Given the description of an element on the screen output the (x, y) to click on. 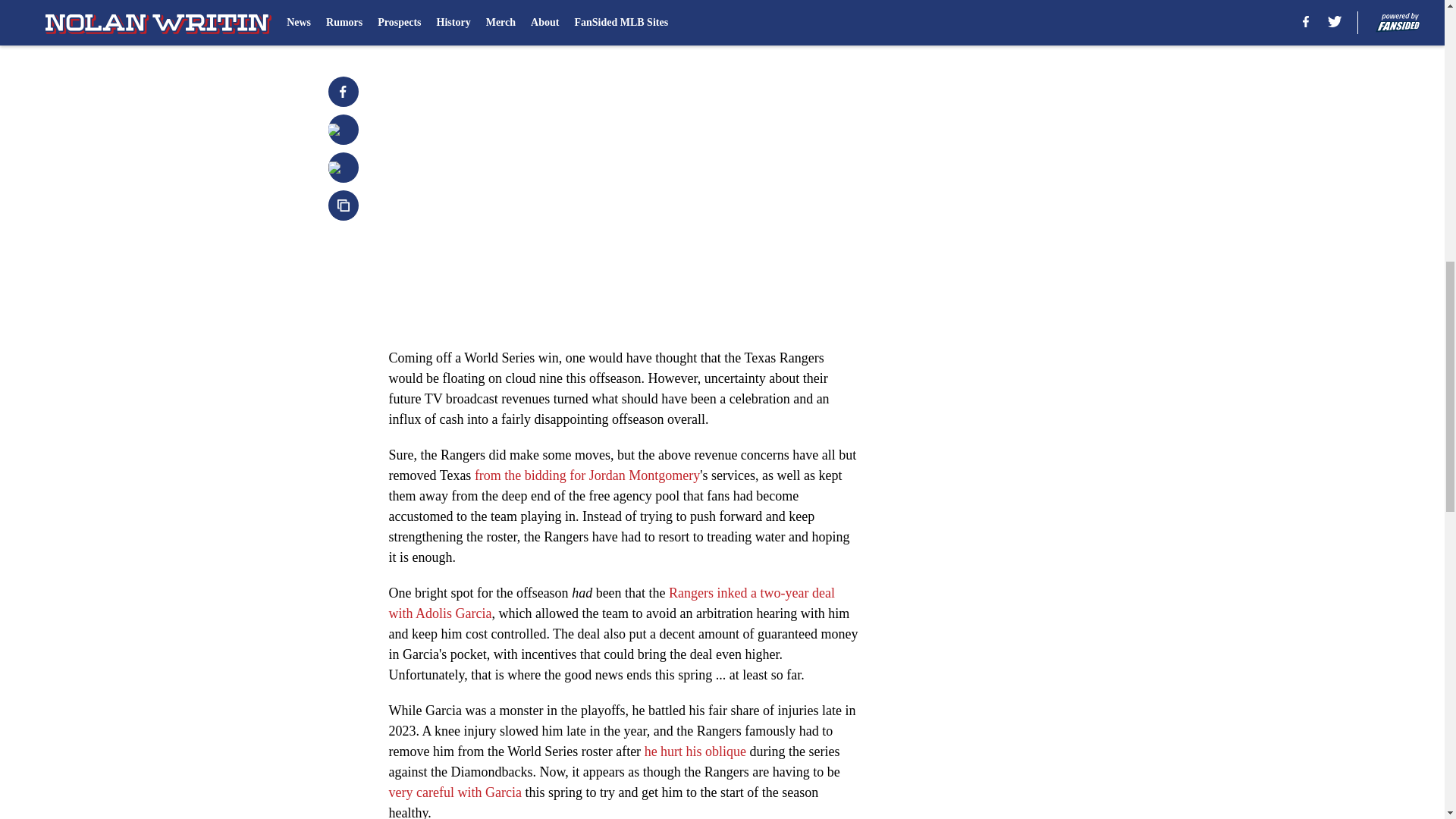
Rangers inked a two-year deal with Adolis Garcia (611, 602)
from the bidding for Jordan Montgomery (587, 475)
very careful with Garcia (454, 792)
he hurt his oblique (695, 751)
